Given the description of an element on the screen output the (x, y) to click on. 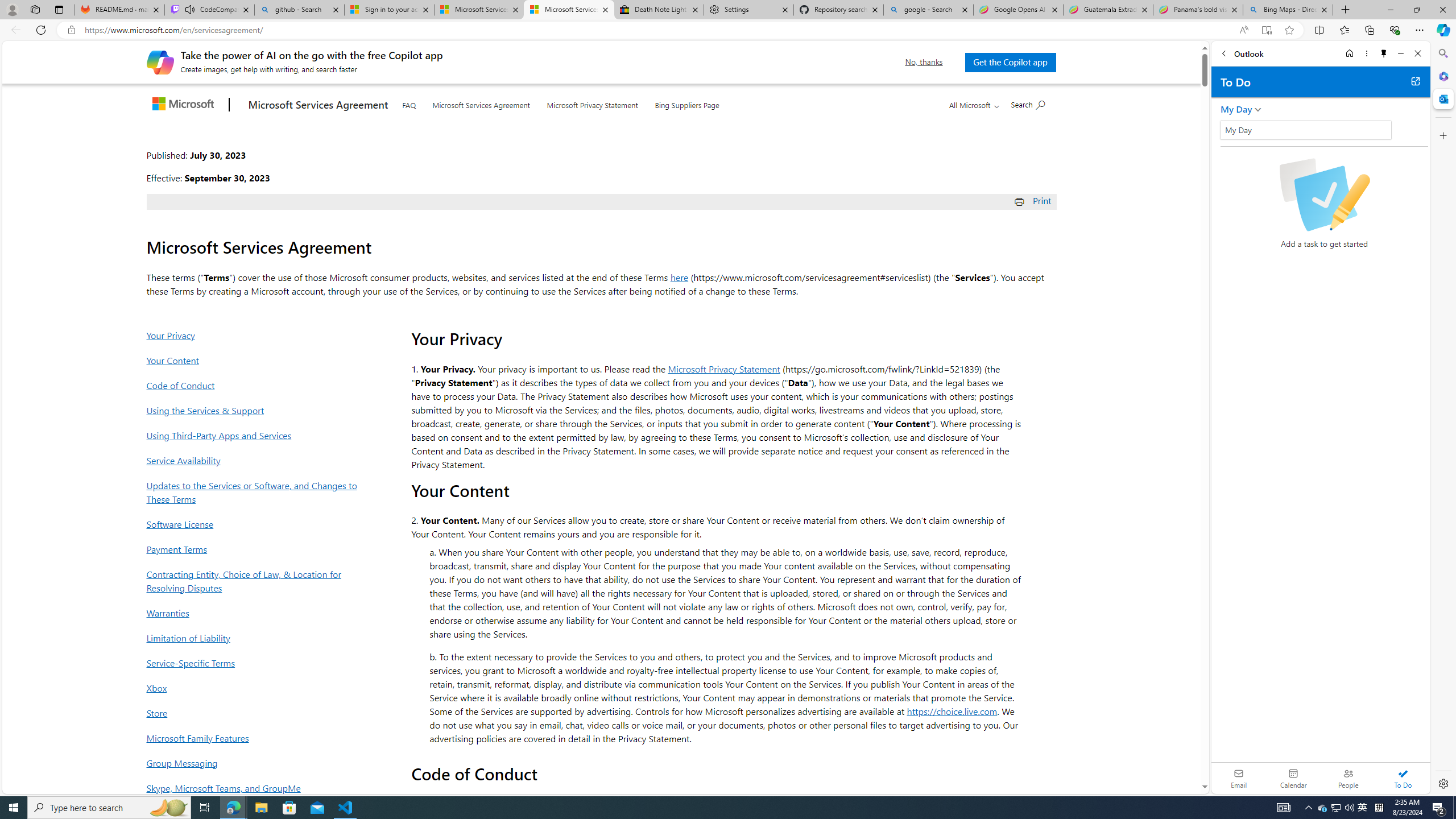
My Day (1305, 130)
Checkbox with a pencil (1324, 194)
Using the Services & Support (254, 409)
